Given the description of an element on the screen output the (x, y) to click on. 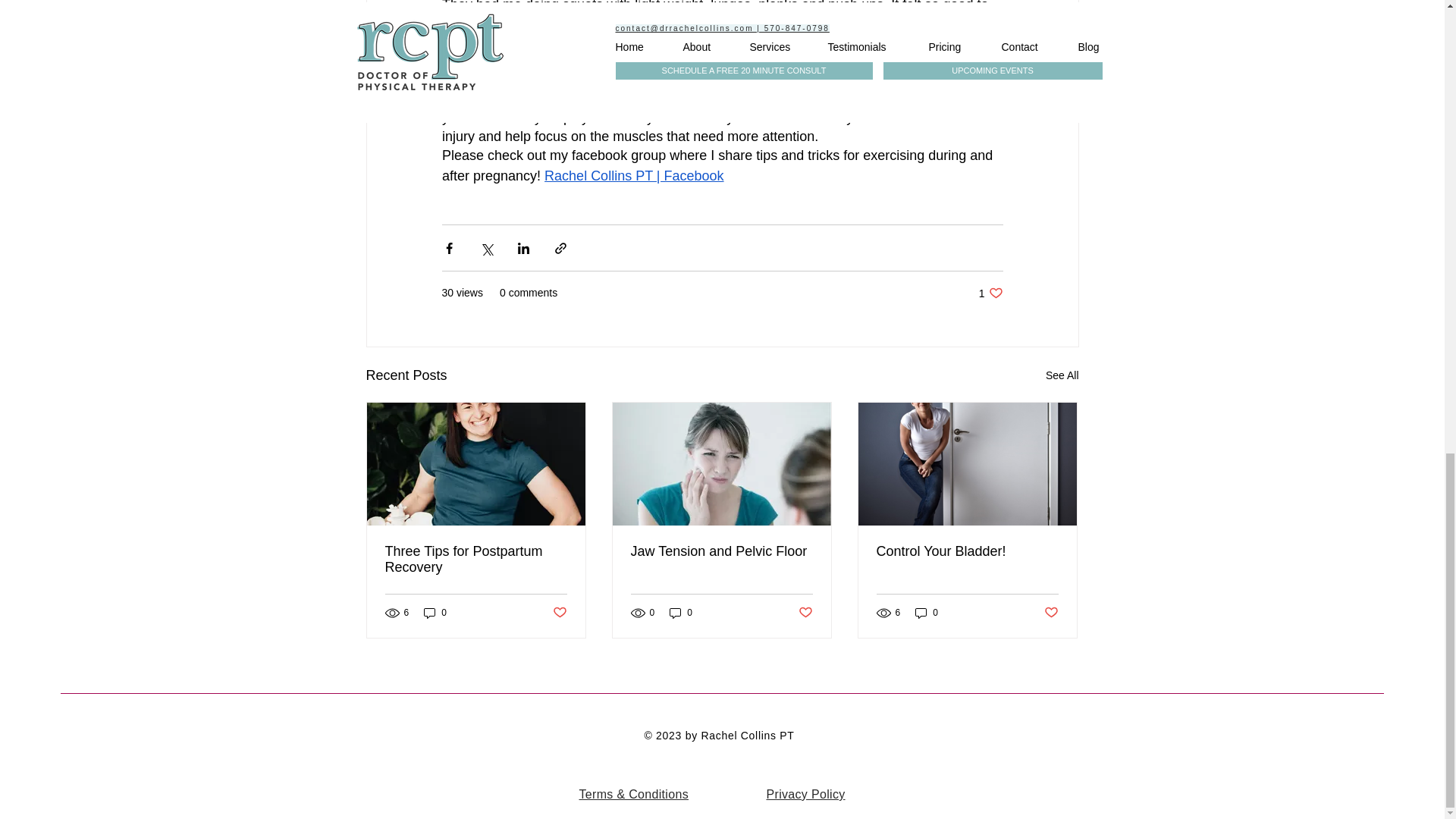
0 (435, 612)
Three Tips for Postpartum Recovery (476, 559)
0 (990, 292)
Control Your Bladder! (926, 612)
Post not marked as liked (967, 551)
Post not marked as liked (1050, 612)
Post not marked as liked (804, 612)
Jaw Tension and Pelvic Floor (558, 612)
0 (721, 551)
